Given the description of an element on the screen output the (x, y) to click on. 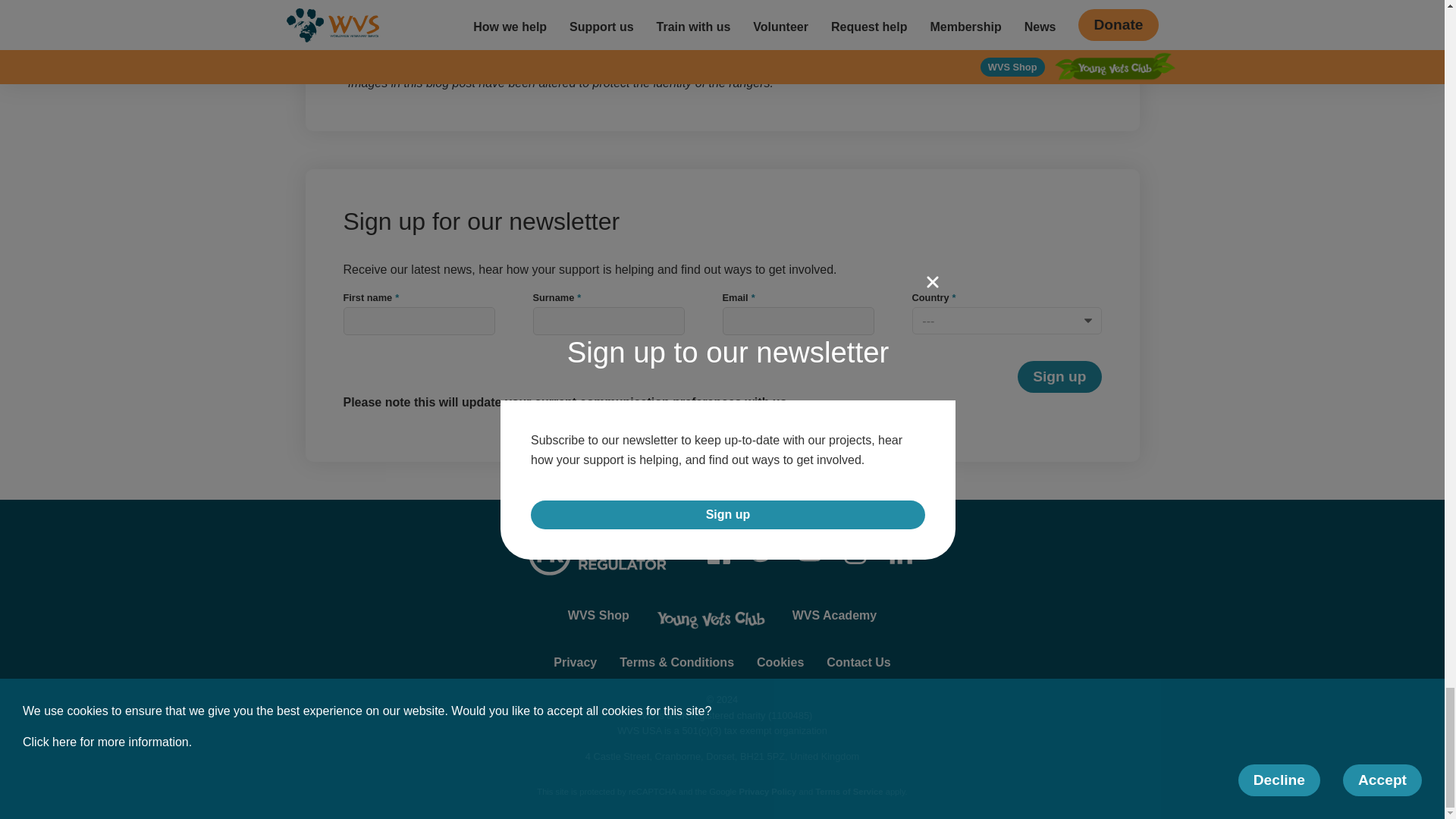
caring for sick and orphaned elephants in Myanmar (491, 51)
Donate today (380, 31)
Sign up (1058, 377)
treating injured zebras in Malawi (957, 31)
